Given the description of an element on the screen output the (x, y) to click on. 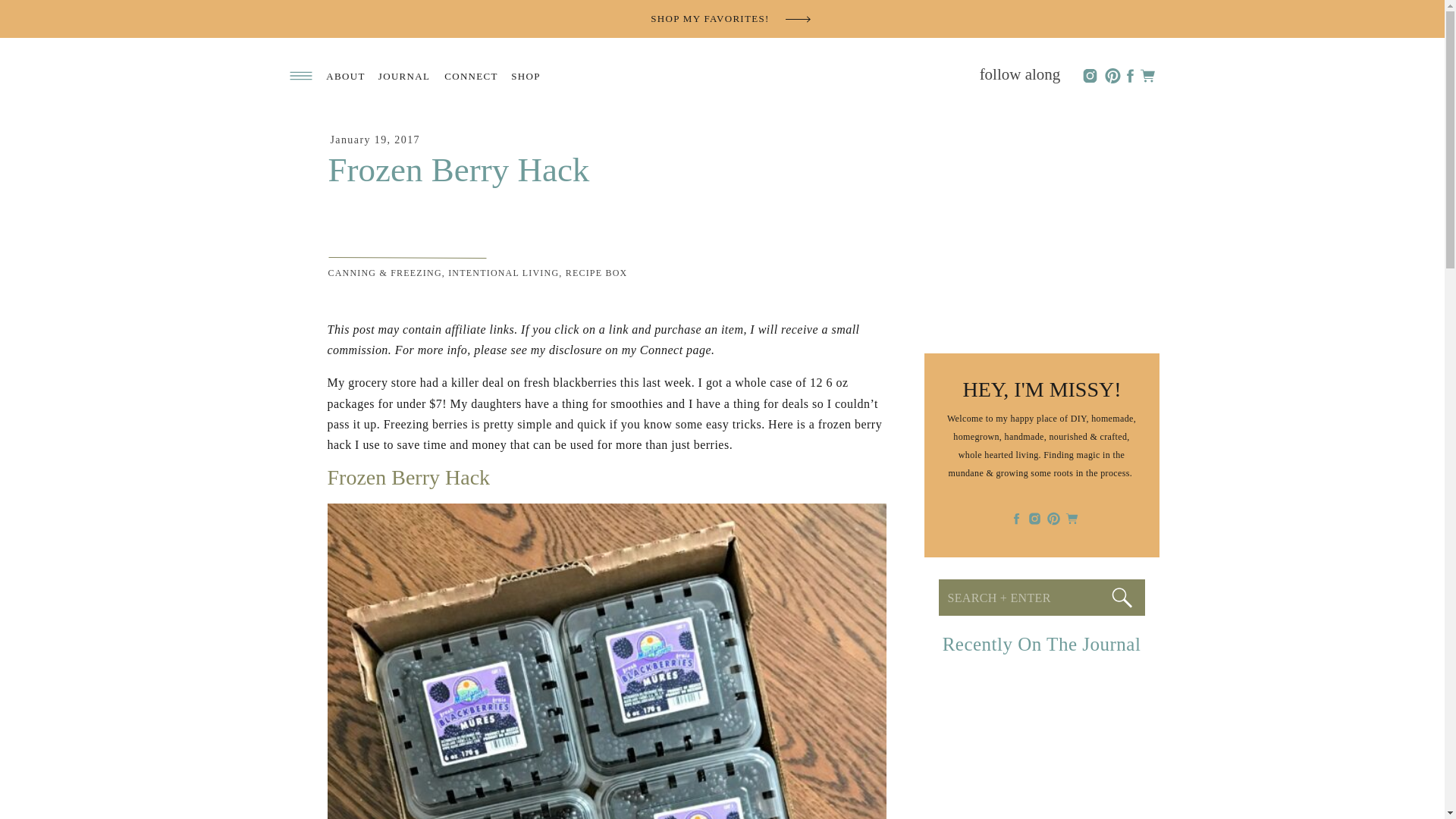
JOURNAL (403, 76)
CONNECT (471, 76)
ABOUT (346, 76)
SHOP MY FAVORITES! (710, 18)
SHOP (525, 76)
